Given the description of an element on the screen output the (x, y) to click on. 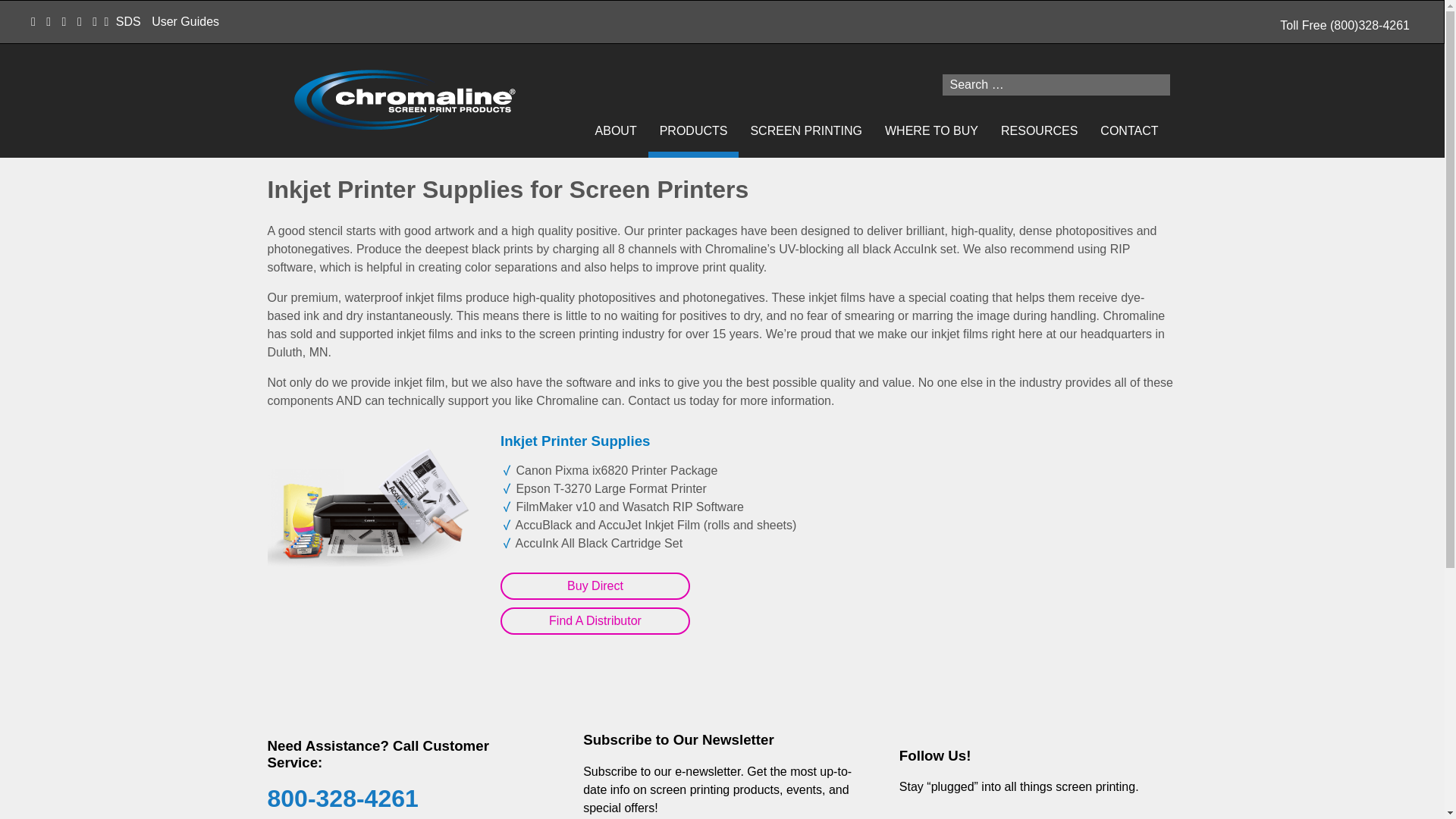
WHERE TO BUY (931, 130)
TikTok (1032, 813)
SDS (128, 21)
Chromaline (404, 100)
Search (25, 9)
PRODUCTS (693, 130)
ABOUT (615, 130)
RESOURCES (1039, 130)
SCREEN PRINTING (805, 130)
User Guides (185, 21)
